Given the description of an element on the screen output the (x, y) to click on. 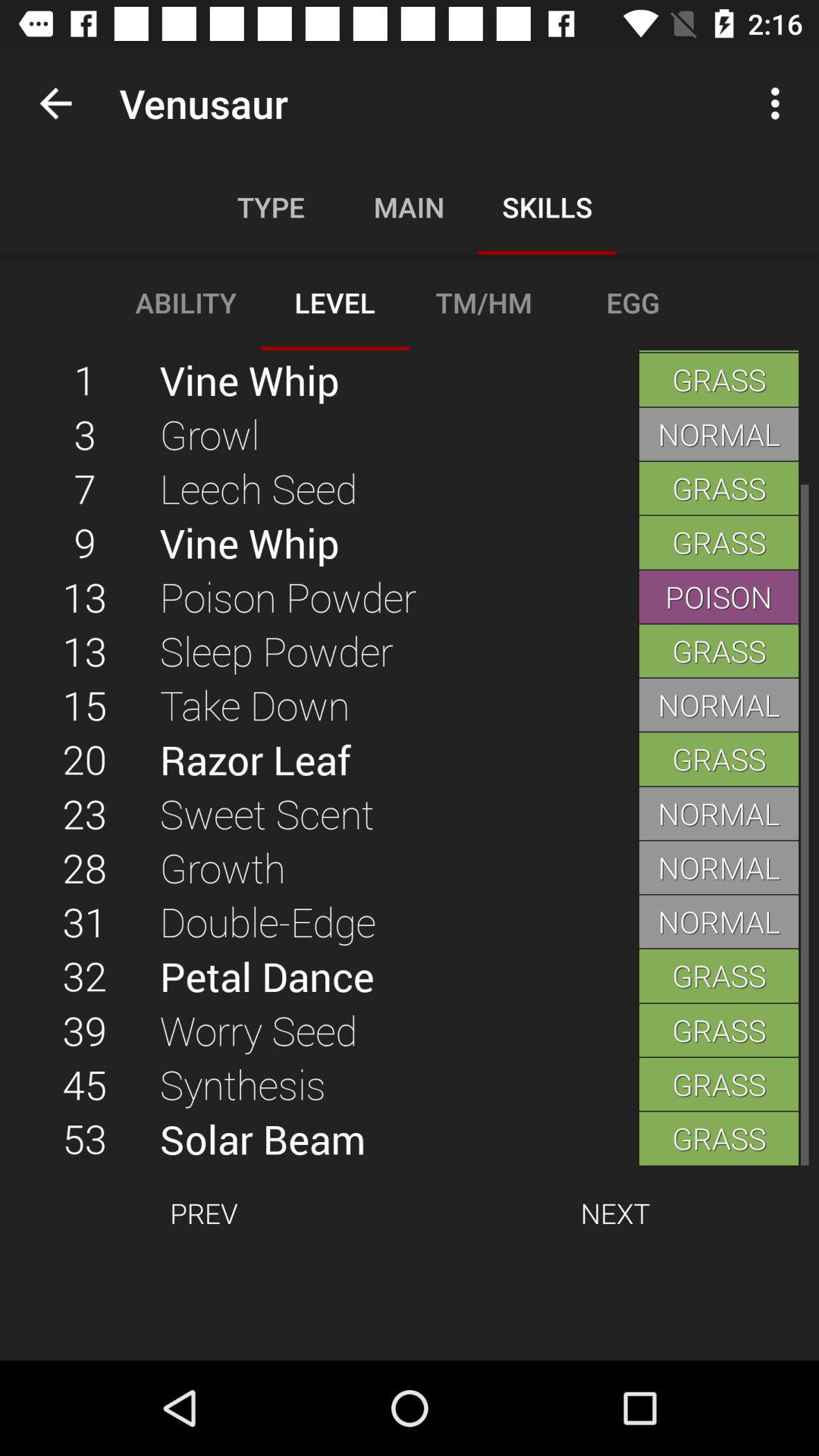
tap icon below 31 item (399, 975)
